Given the description of an element on the screen output the (x, y) to click on. 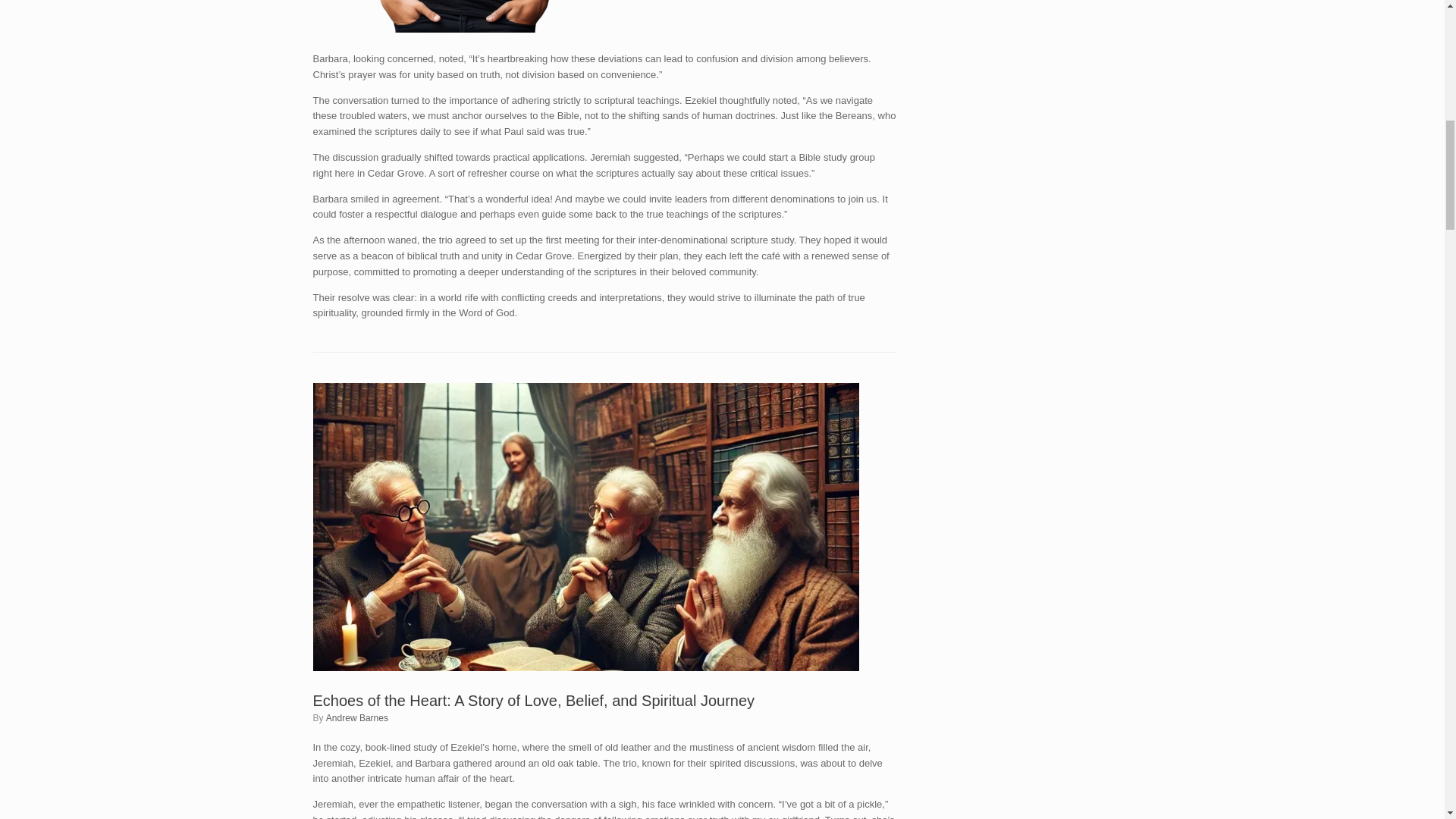
Andrew Barnes (357, 717)
View all posts by Andrew Barnes (357, 717)
